Given the description of an element on the screen output the (x, y) to click on. 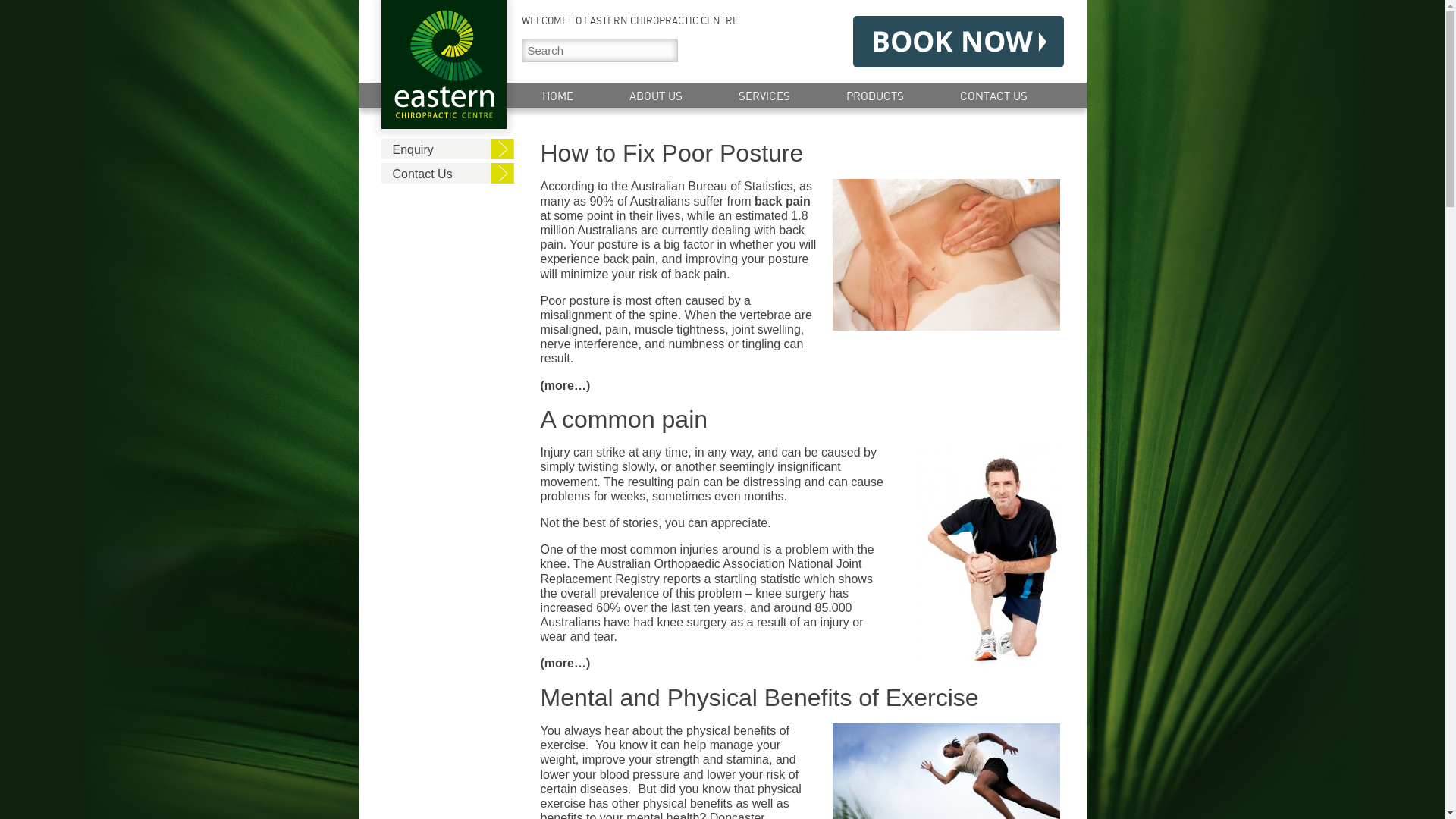
SERVICES Element type: text (763, 92)
Contact Us Element type: text (446, 173)
A common pain Element type: text (799, 418)
CONTACT US Element type: text (992, 92)
HOME Element type: text (557, 92)
Mental and Physical Benefits of Exercise Element type: text (799, 697)
ABOUT US Element type: text (654, 92)
PRODUCTS Element type: text (874, 92)
How to Fix Poor Posture Element type: text (799, 152)
back pain Element type: text (782, 200)
Enquiry Element type: text (446, 148)
